Given the description of an element on the screen output the (x, y) to click on. 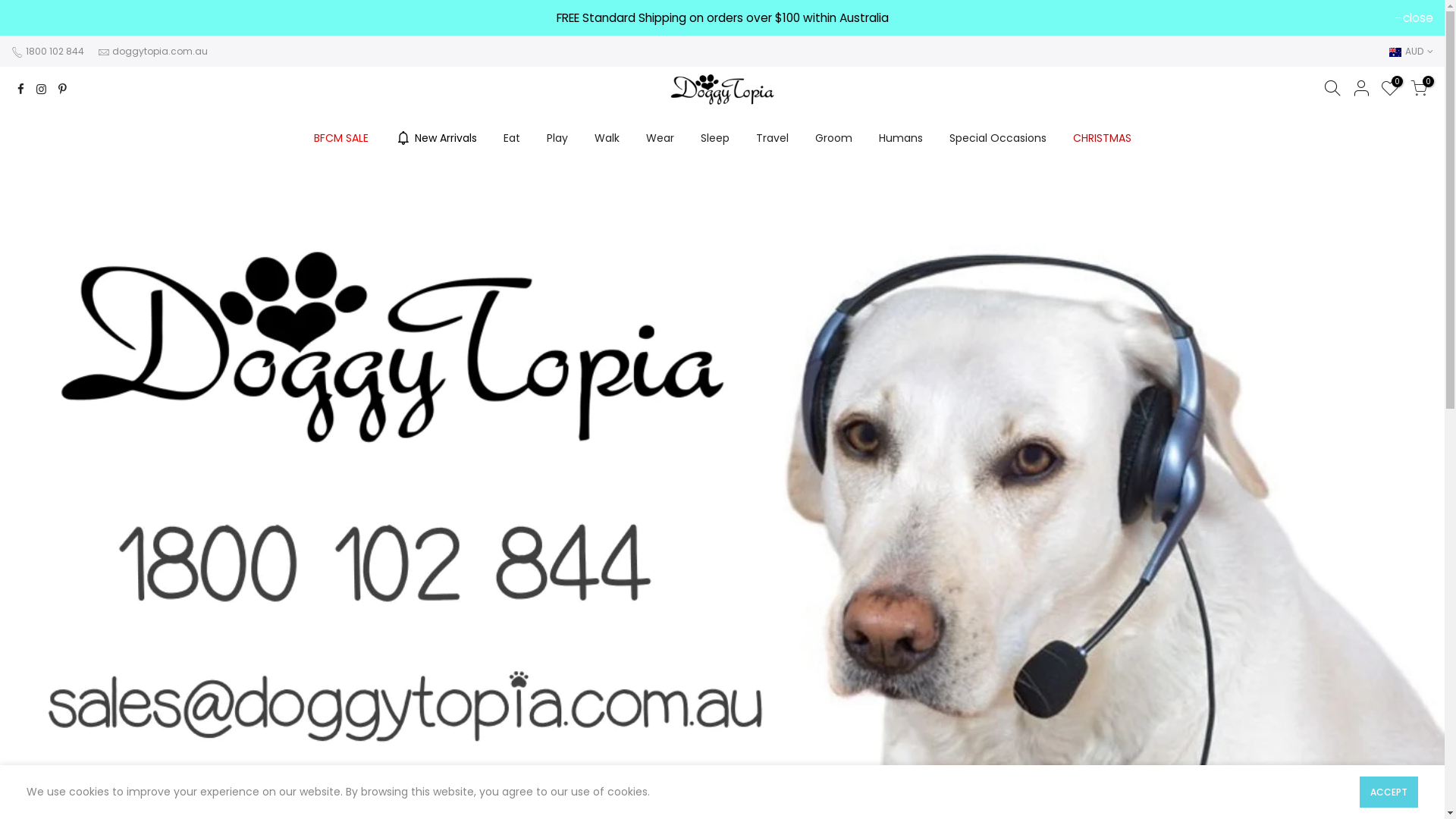
BFCM SALE Element type: text (340, 137)
New Arrivals Element type: text (435, 137)
Travel Element type: text (771, 137)
Play Element type: text (556, 137)
Special Occasions Element type: text (997, 137)
Groom Element type: text (833, 137)
Wear Element type: text (659, 137)
CHRISTMAS Element type: text (1101, 137)
Sleep Element type: text (714, 137)
Humans Element type: text (900, 137)
close Element type: text (1414, 17)
ACCEPT Element type: text (1388, 791)
doggytopia.com.au Element type: text (159, 50)
1800 102 844 Element type: text (53, 50)
0 Element type: text (1418, 90)
0 Element type: text (1389, 90)
Walk Element type: text (606, 137)
Eat Element type: text (511, 137)
